Given the description of an element on the screen output the (x, y) to click on. 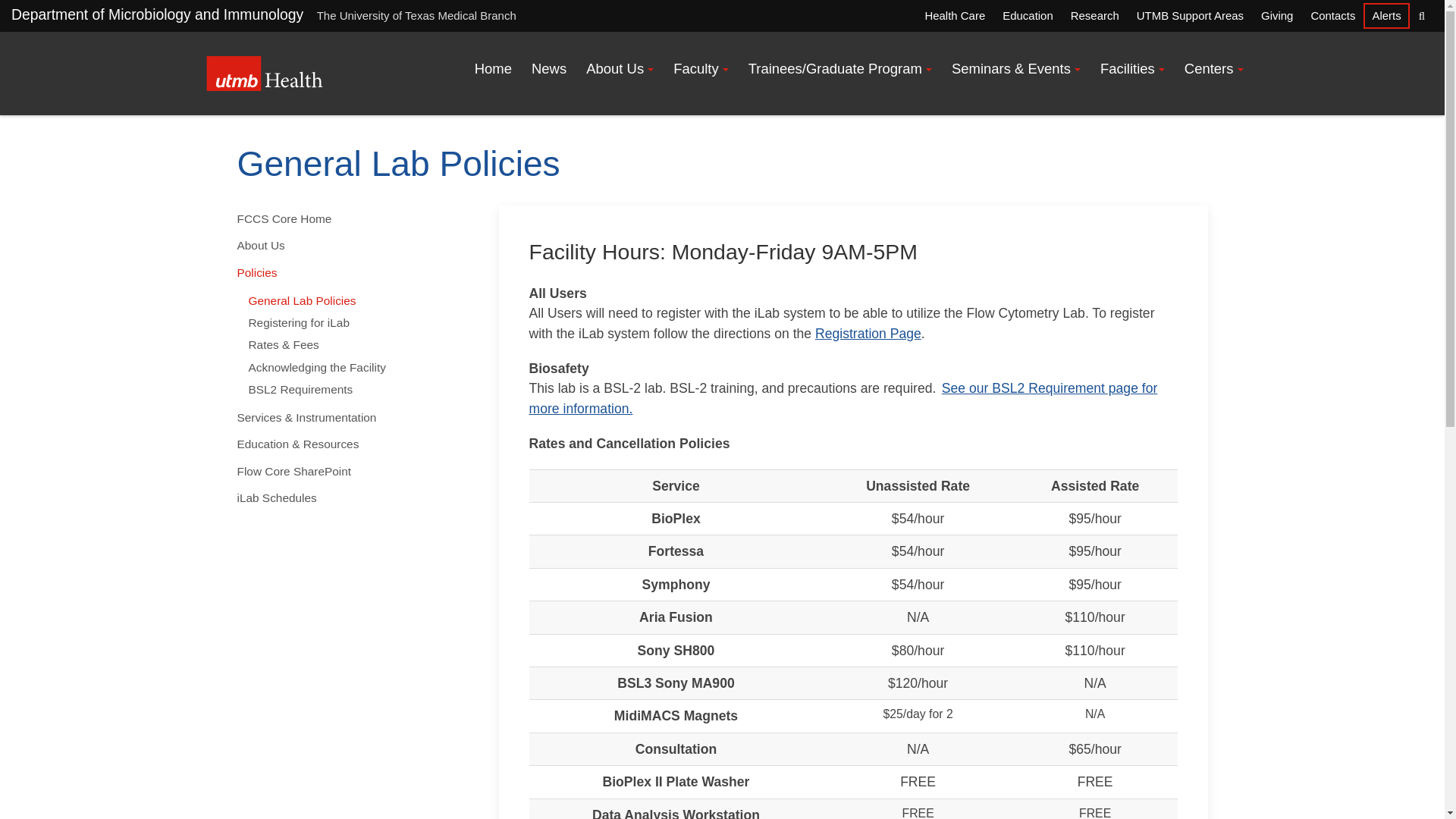
News (548, 68)
Department of Microbiology and Immunology (156, 14)
UTMB Support Areas (1189, 15)
Alerts (1385, 15)
The University of Texas Medical Branch (265, 73)
Contacts (1331, 15)
Search (1420, 15)
Giving (1276, 15)
Education (1026, 15)
Health Care (953, 15)
